Given the description of an element on the screen output the (x, y) to click on. 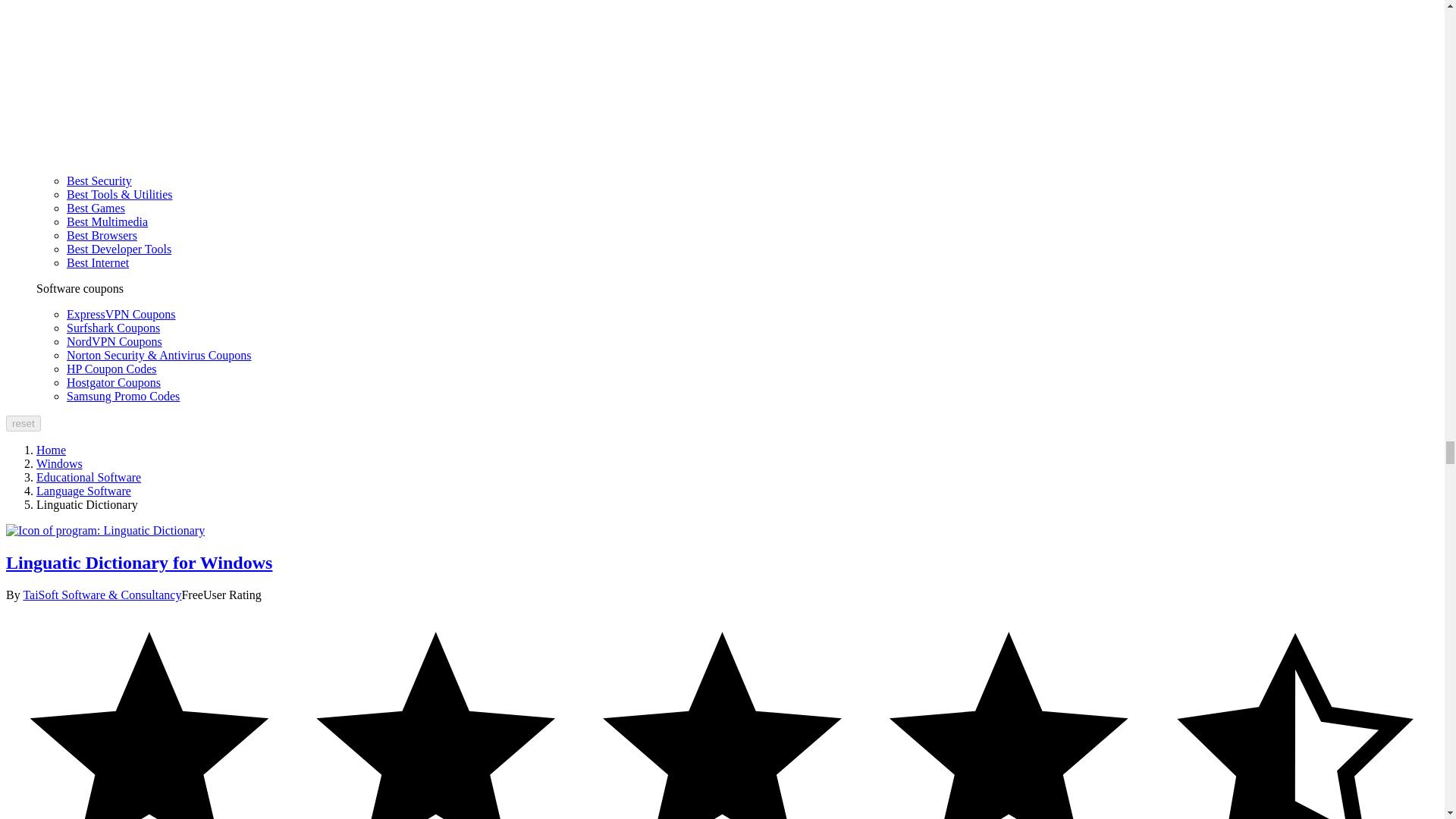
reset (22, 423)
Linguatic Dictionary for Windows (105, 530)
